Given the description of an element on the screen output the (x, y) to click on. 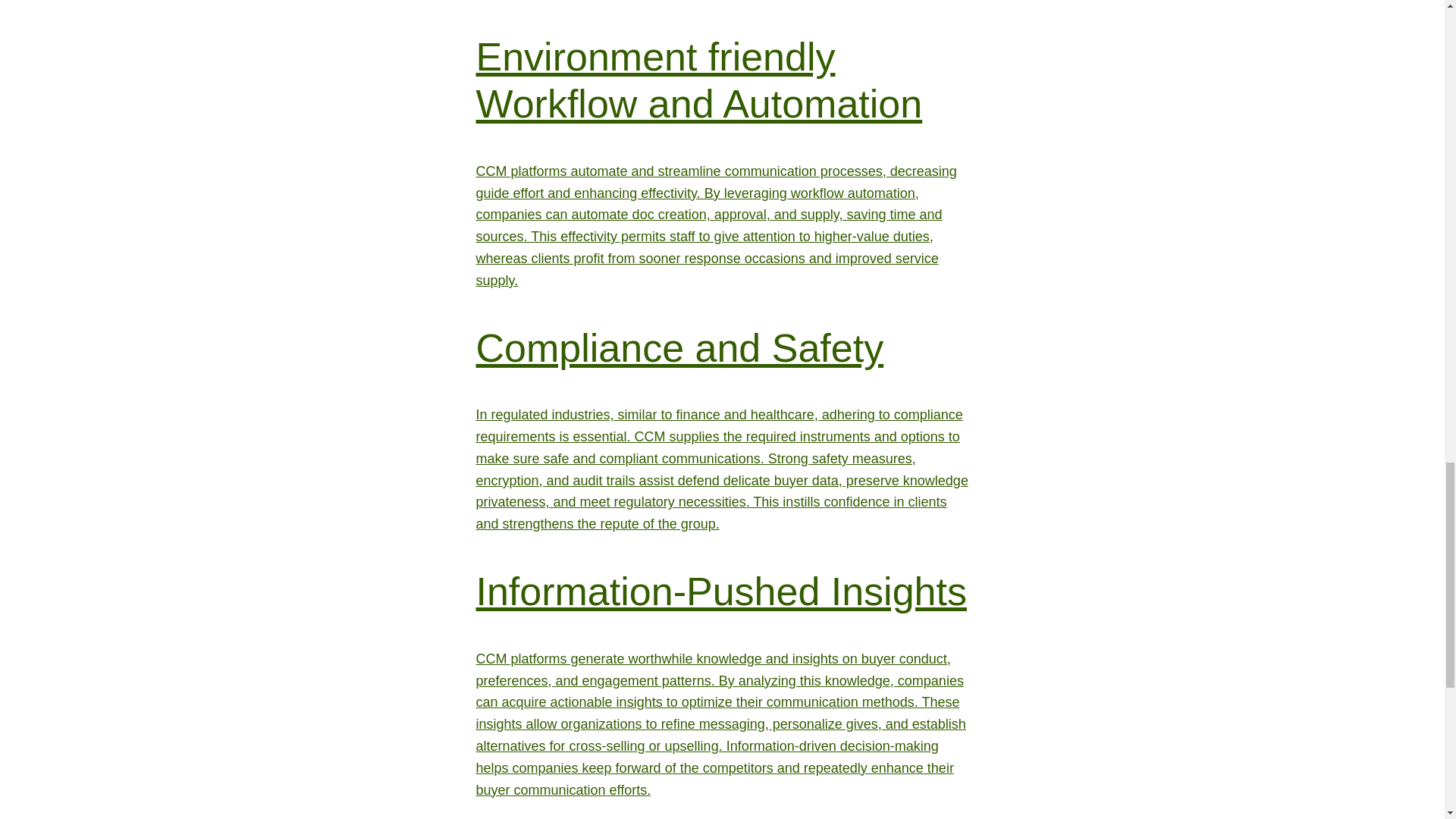
Environment friendly Workflow and Automation (699, 80)
Compliance and Safety (679, 347)
Information-Pushed Insights (721, 591)
